Given the description of an element on the screen output the (x, y) to click on. 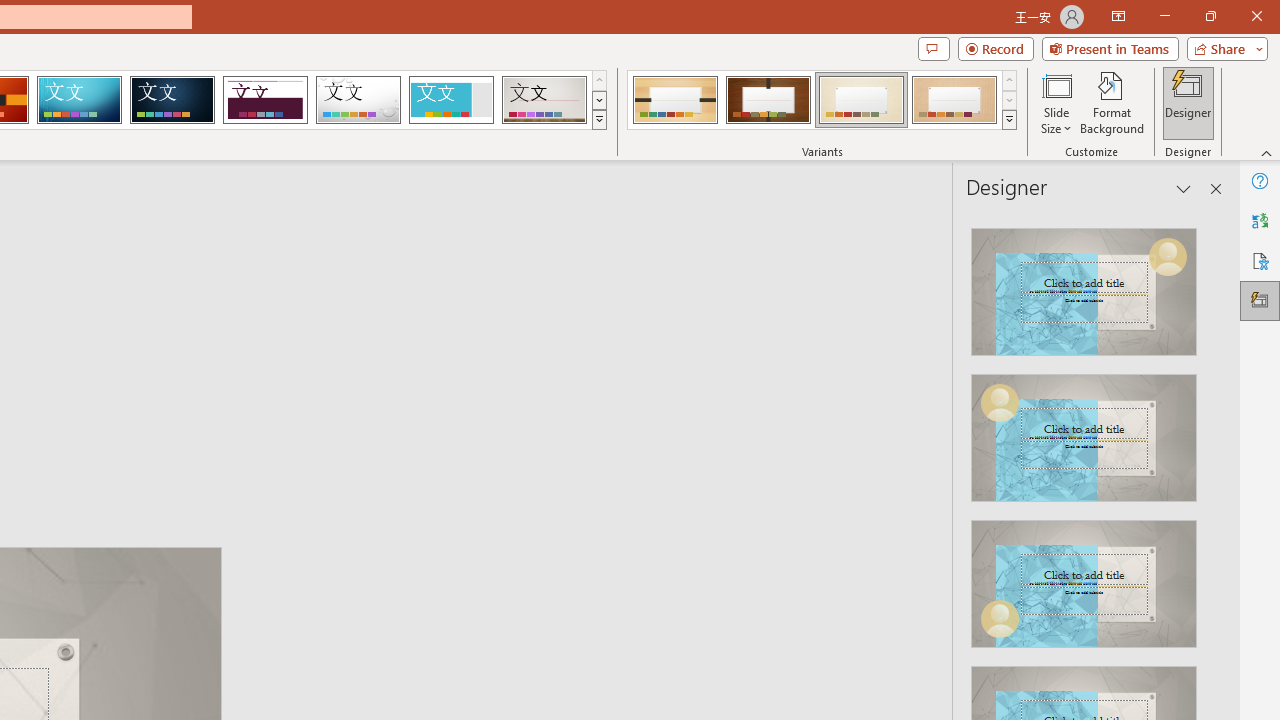
Slide Size (1056, 102)
Organic Variant 4 (953, 100)
